Given the description of an element on the screen output the (x, y) to click on. 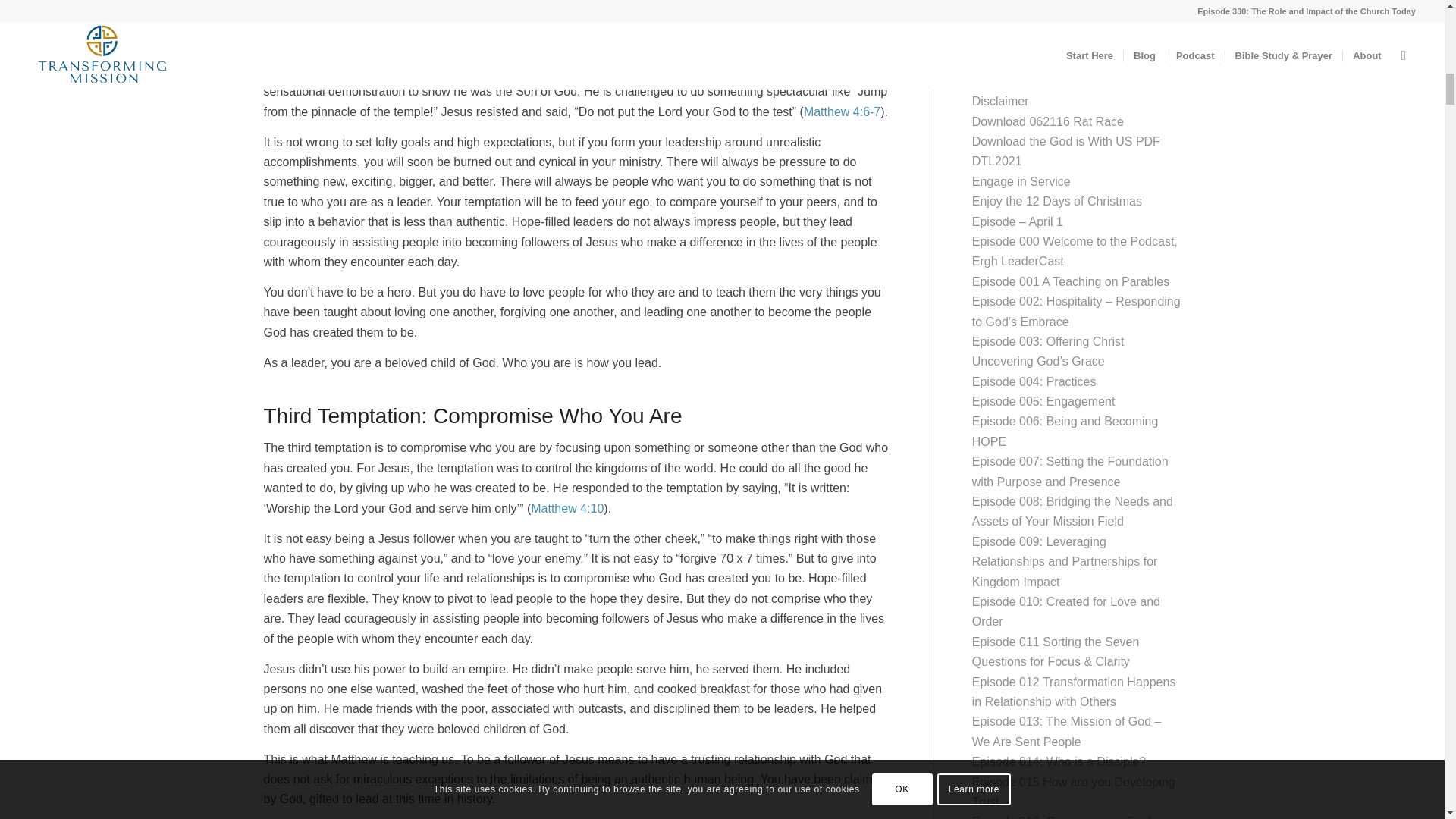
Matthew 4:10 (567, 508)
Matthew 4:6-7 (841, 111)
